Given the description of an element on the screen output the (x, y) to click on. 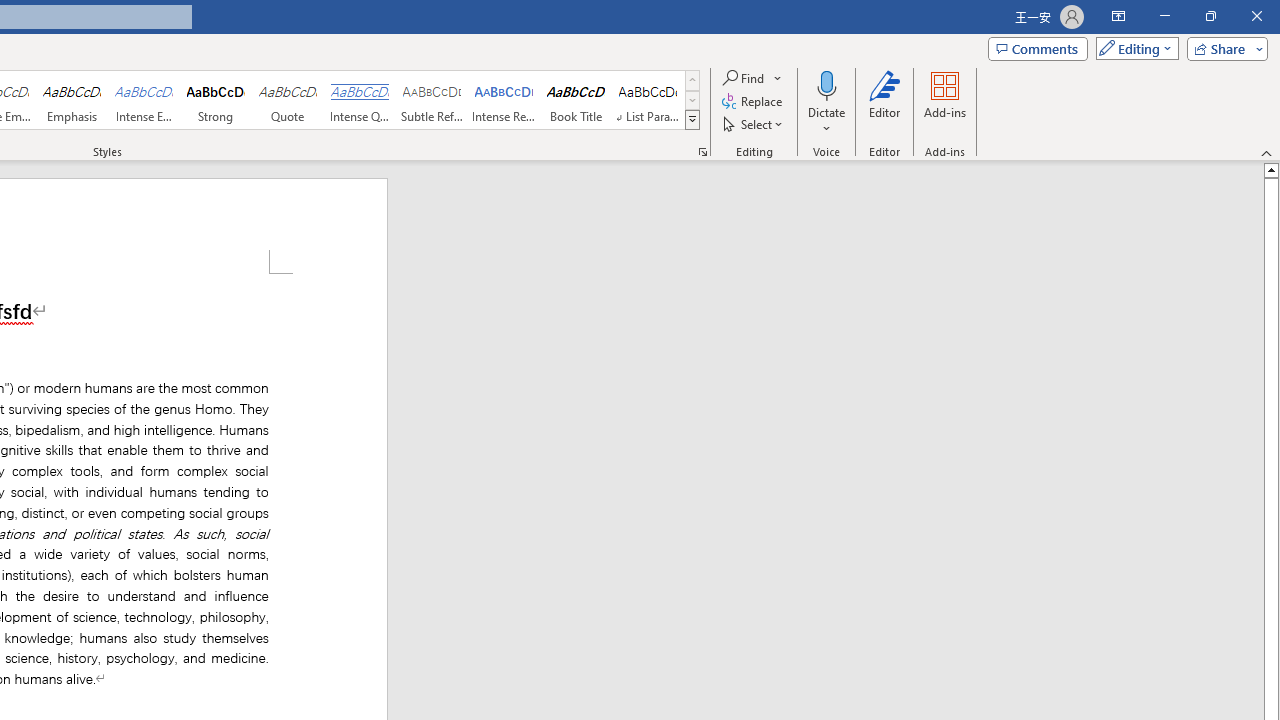
Row Down (692, 100)
Strong (216, 100)
